Given the description of an element on the screen output the (x, y) to click on. 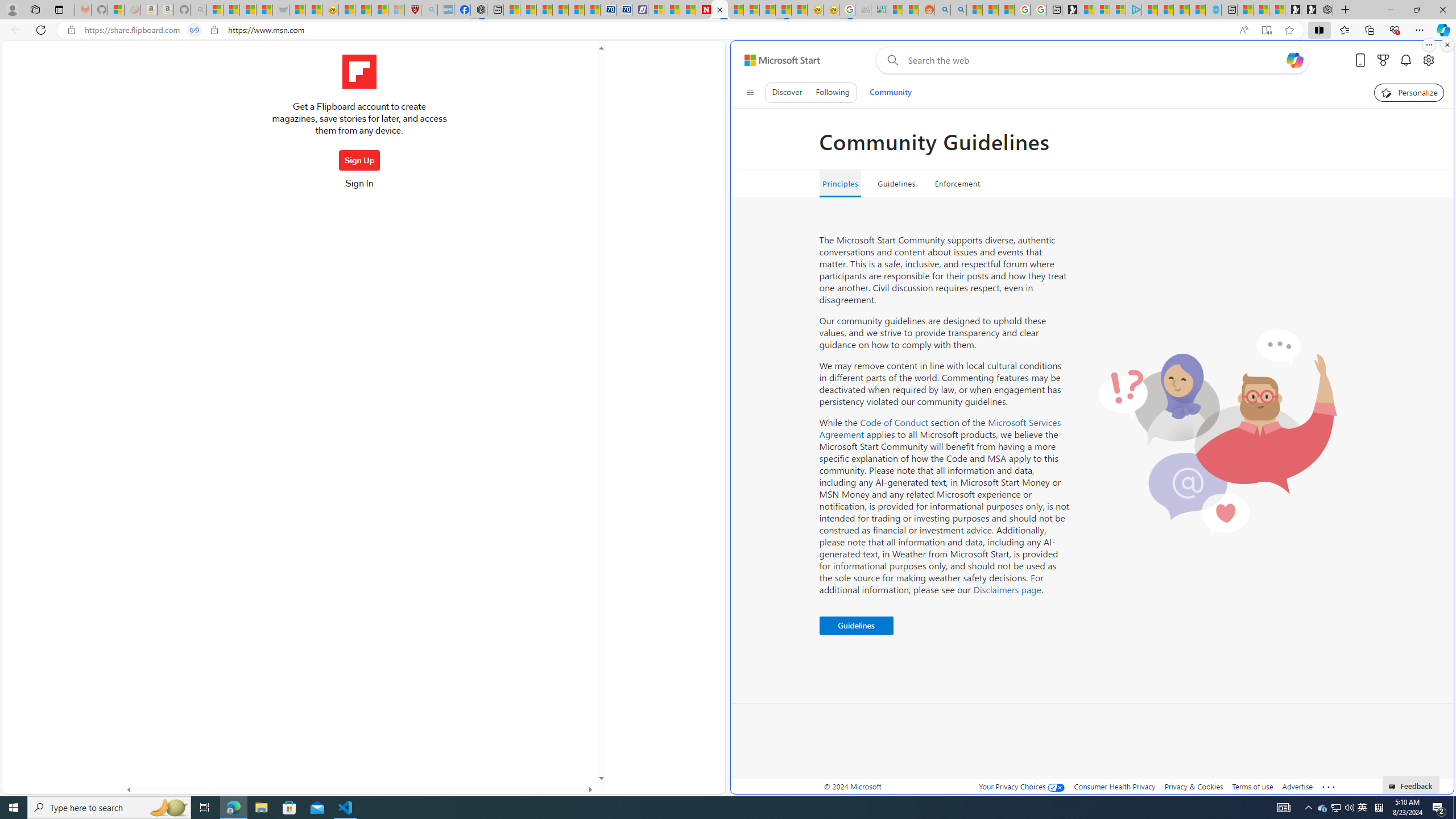
MSNBC - MSN (894, 9)
Disclaimers page (1006, 589)
Consumer Health Privacy (1115, 786)
Close split screen. (1447, 45)
Navy Quest (863, 9)
See more (1328, 787)
Cheap Car Rentals - Save70.com (608, 9)
Combat Siege (280, 9)
Principles (839, 183)
